Given the description of an element on the screen output the (x, y) to click on. 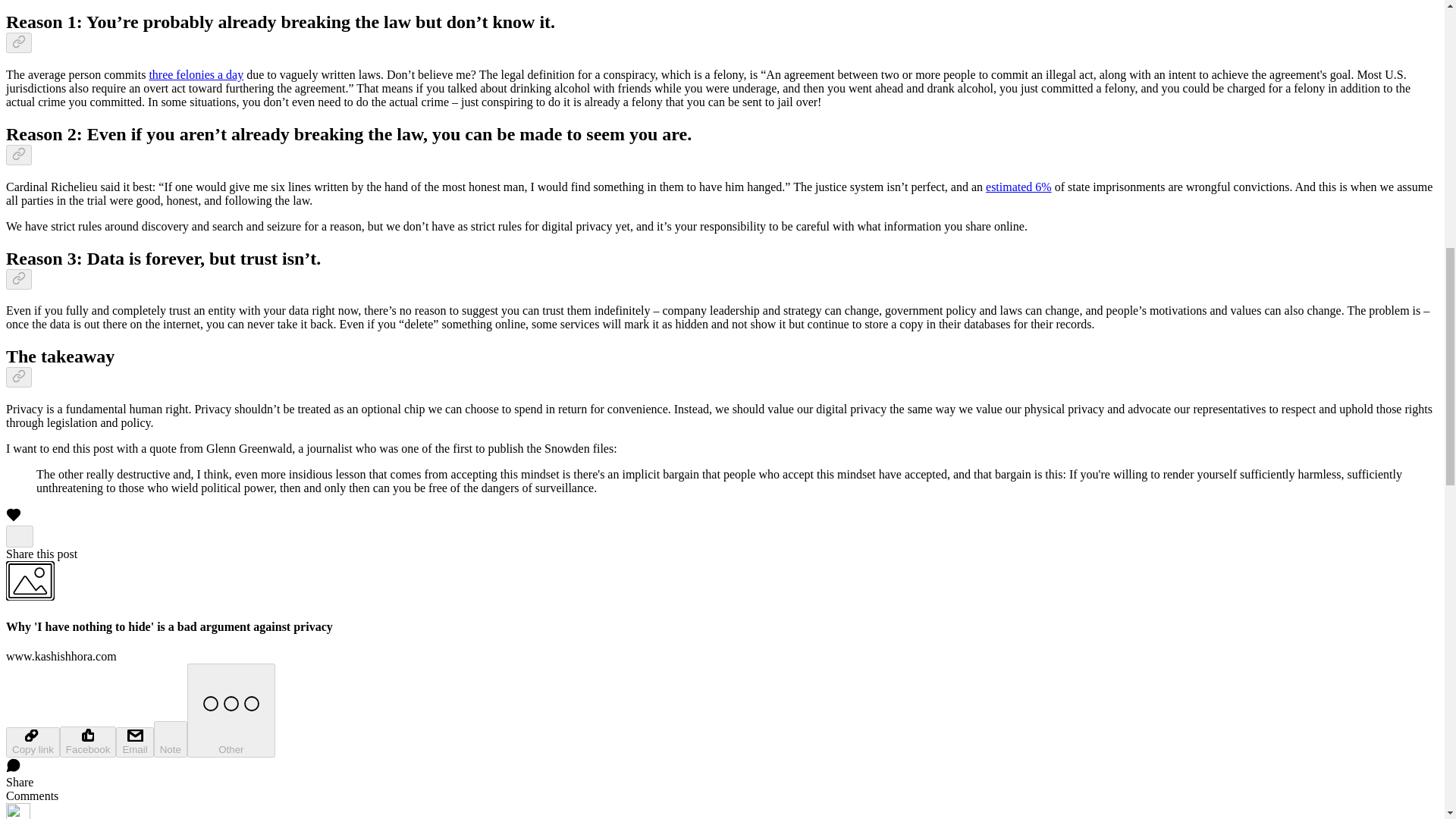
Facebook (87, 741)
Note (170, 739)
Copy link (32, 742)
three felonies a day (195, 74)
Other (231, 710)
Email (134, 742)
